Given the description of an element on the screen output the (x, y) to click on. 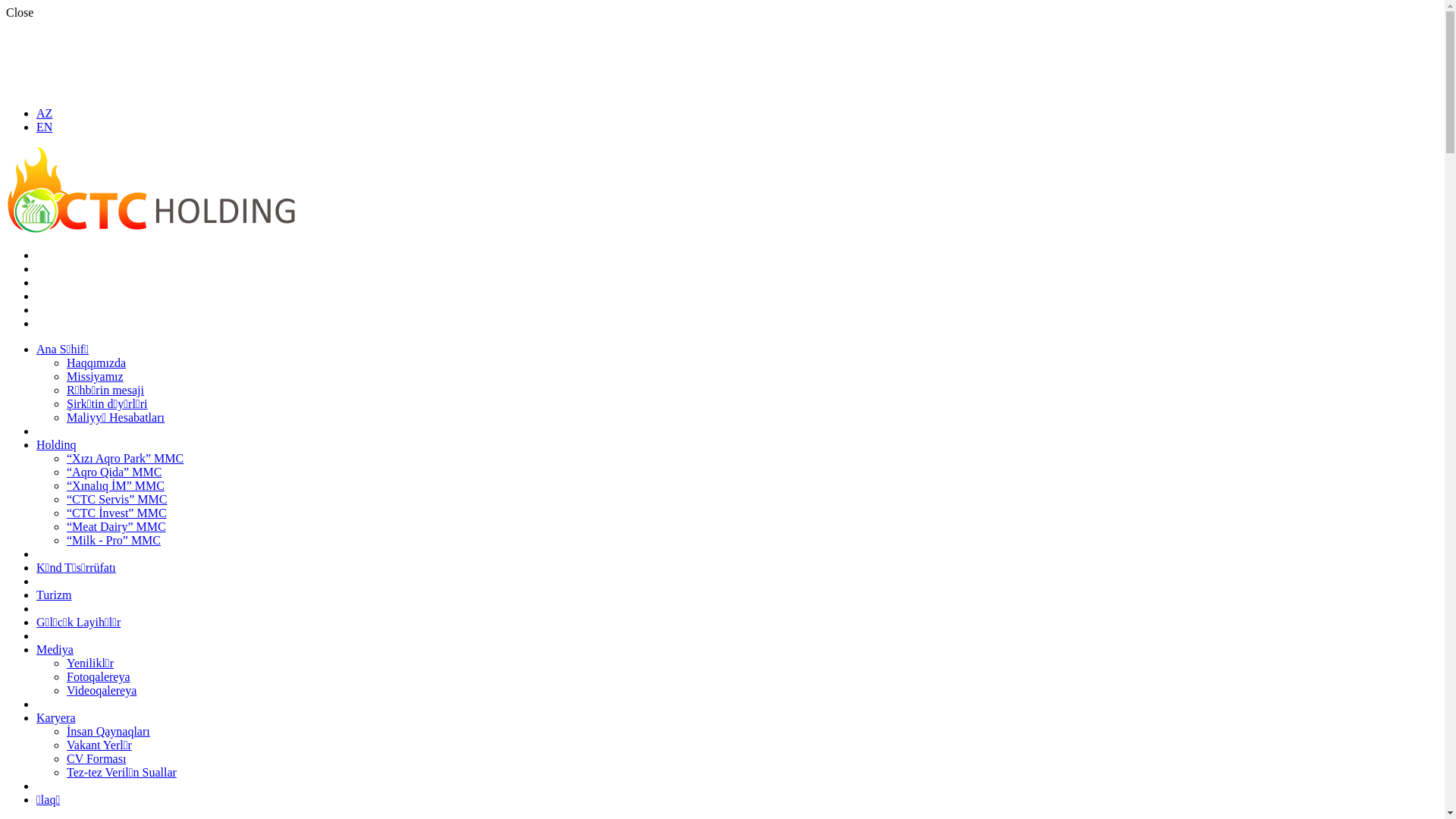
Karyera Element type: text (55, 717)
Fotoqalereya Element type: text (98, 676)
Turizm Element type: text (54, 594)
Mediya Element type: text (54, 649)
EN Element type: text (44, 126)
Videoqalereya Element type: text (101, 690)
AZ Element type: text (44, 112)
BF Group Element type: hover (150, 228)
Holdinq Element type: text (55, 444)
